Given the description of an element on the screen output the (x, y) to click on. 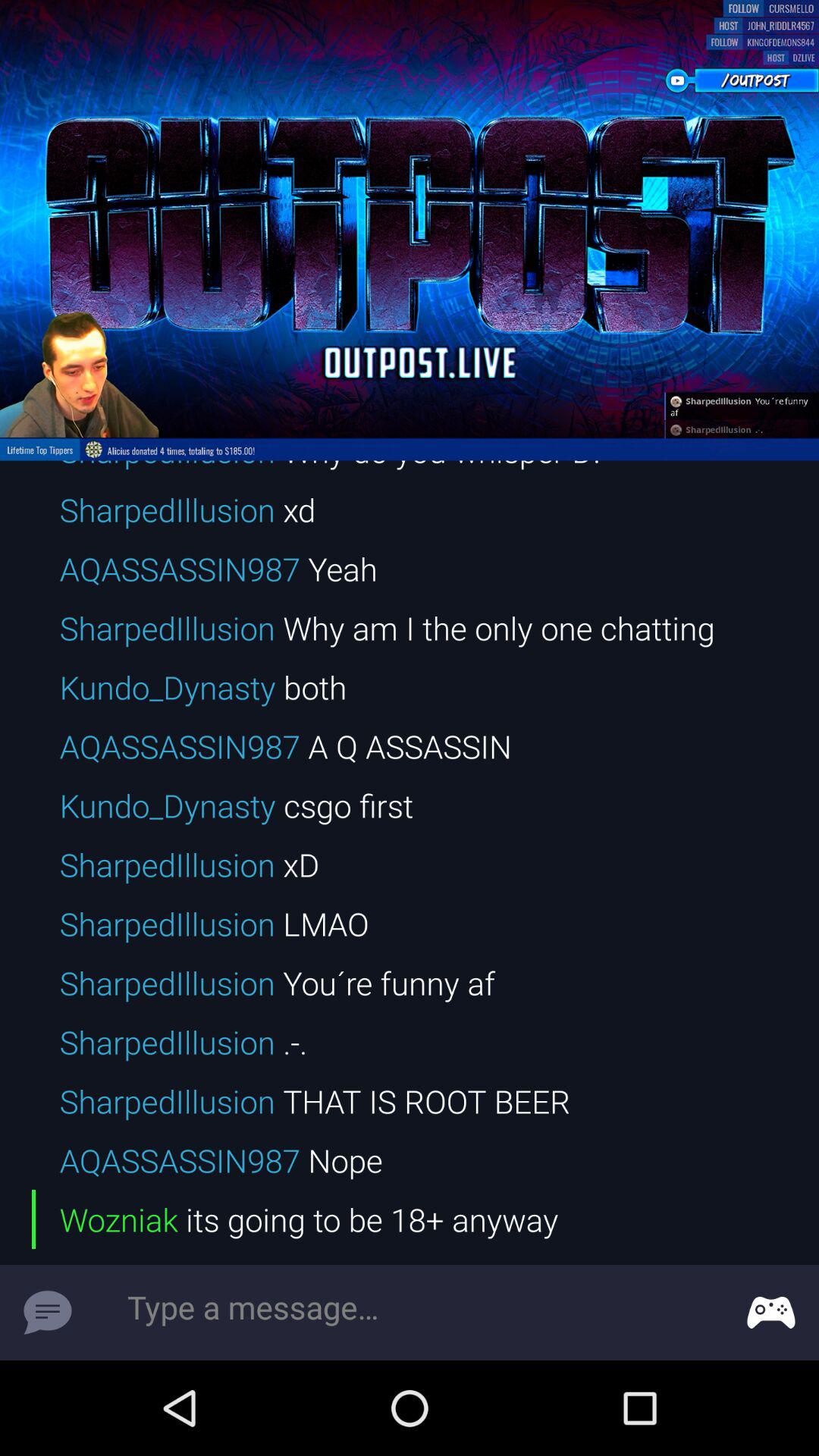
message texting space (409, 1312)
